Given the description of an element on the screen output the (x, y) to click on. 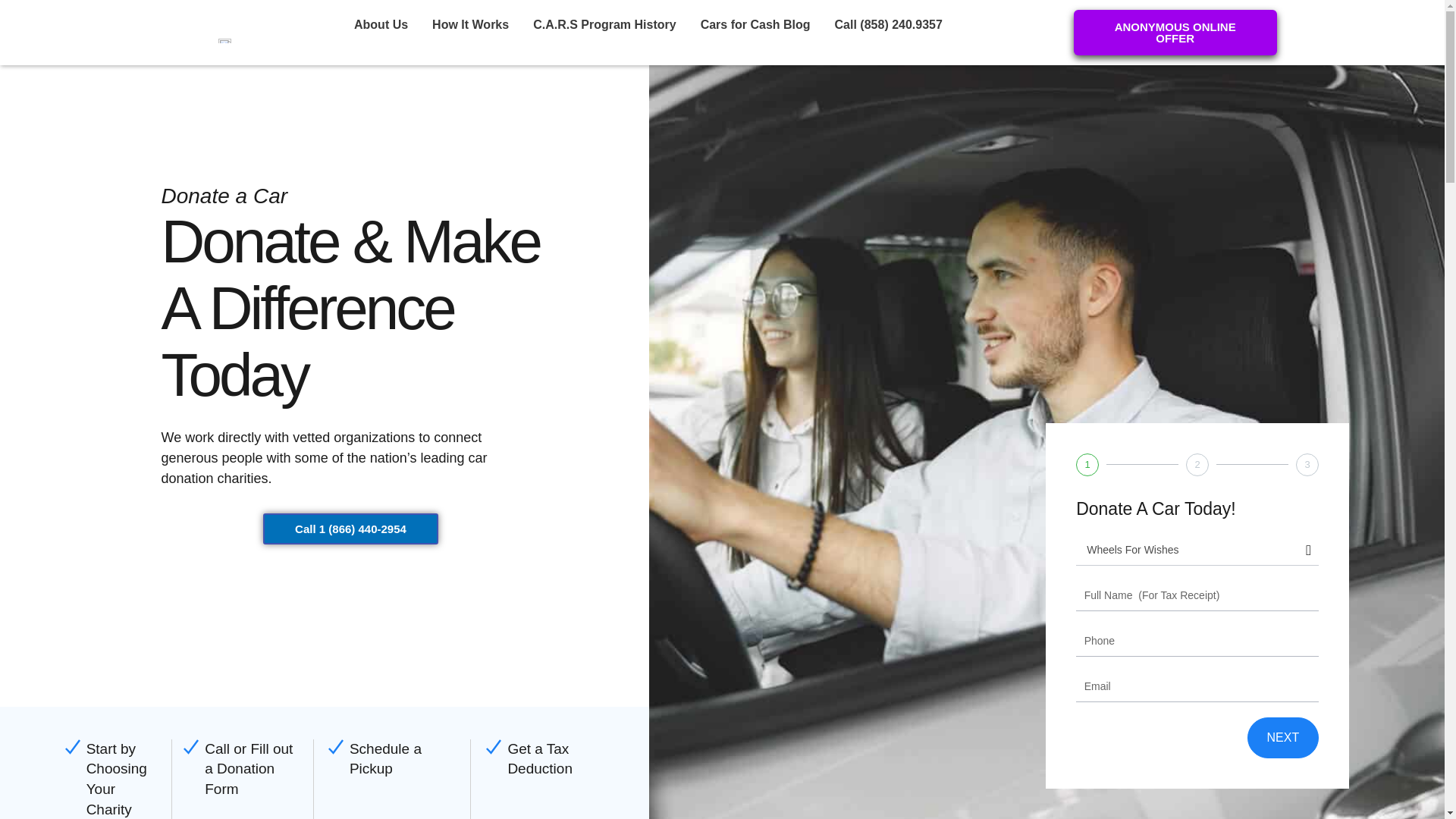
ANONYMOUS ONLINE OFFER (1175, 32)
How It Works (470, 24)
C.A.R.S Program History (604, 24)
Cars for Cash Blog (755, 24)
About Us (381, 24)
